Given the description of an element on the screen output the (x, y) to click on. 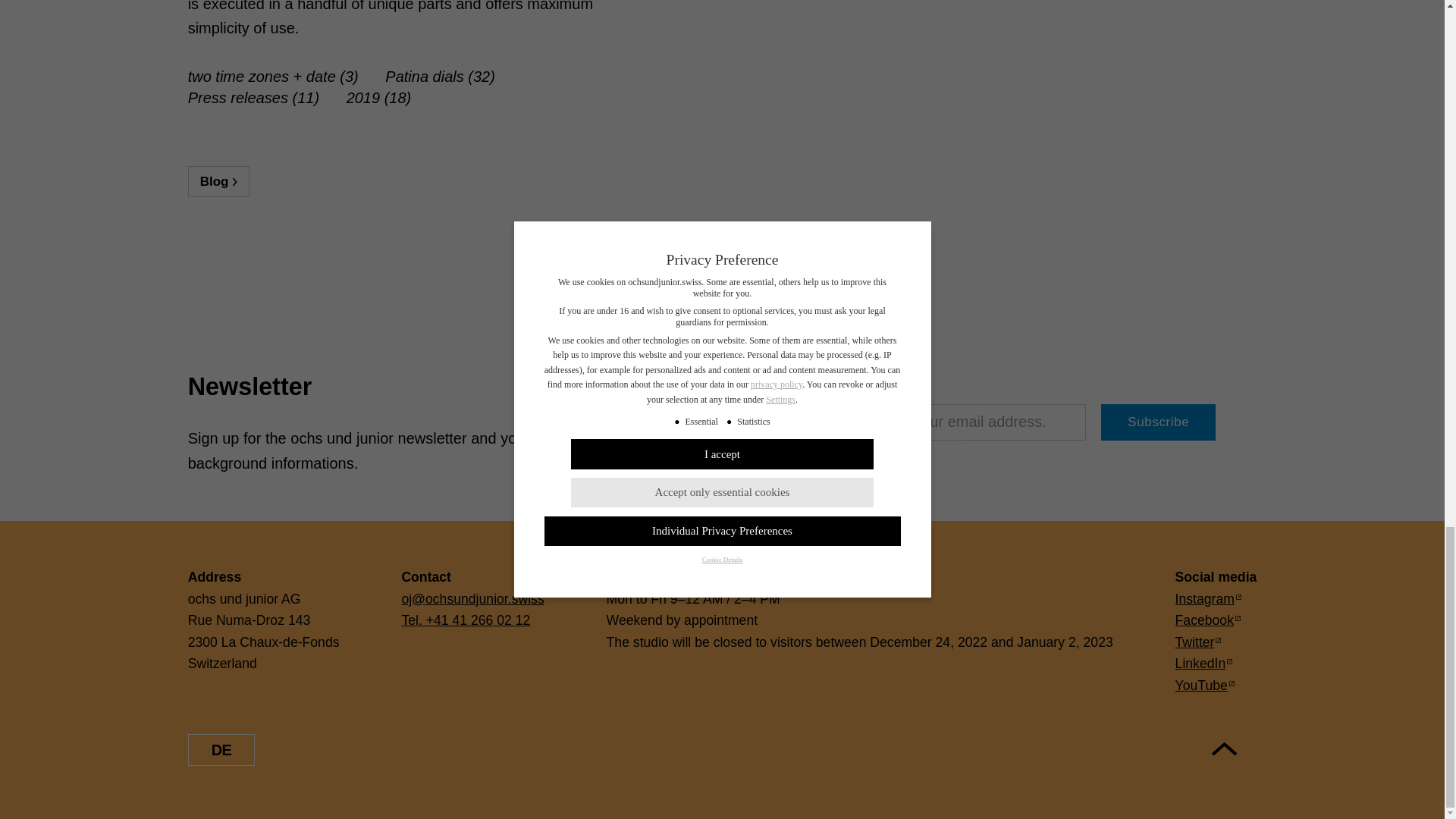
Blog (218, 181)
Subscribe (1157, 422)
